Given the description of an element on the screen output the (x, y) to click on. 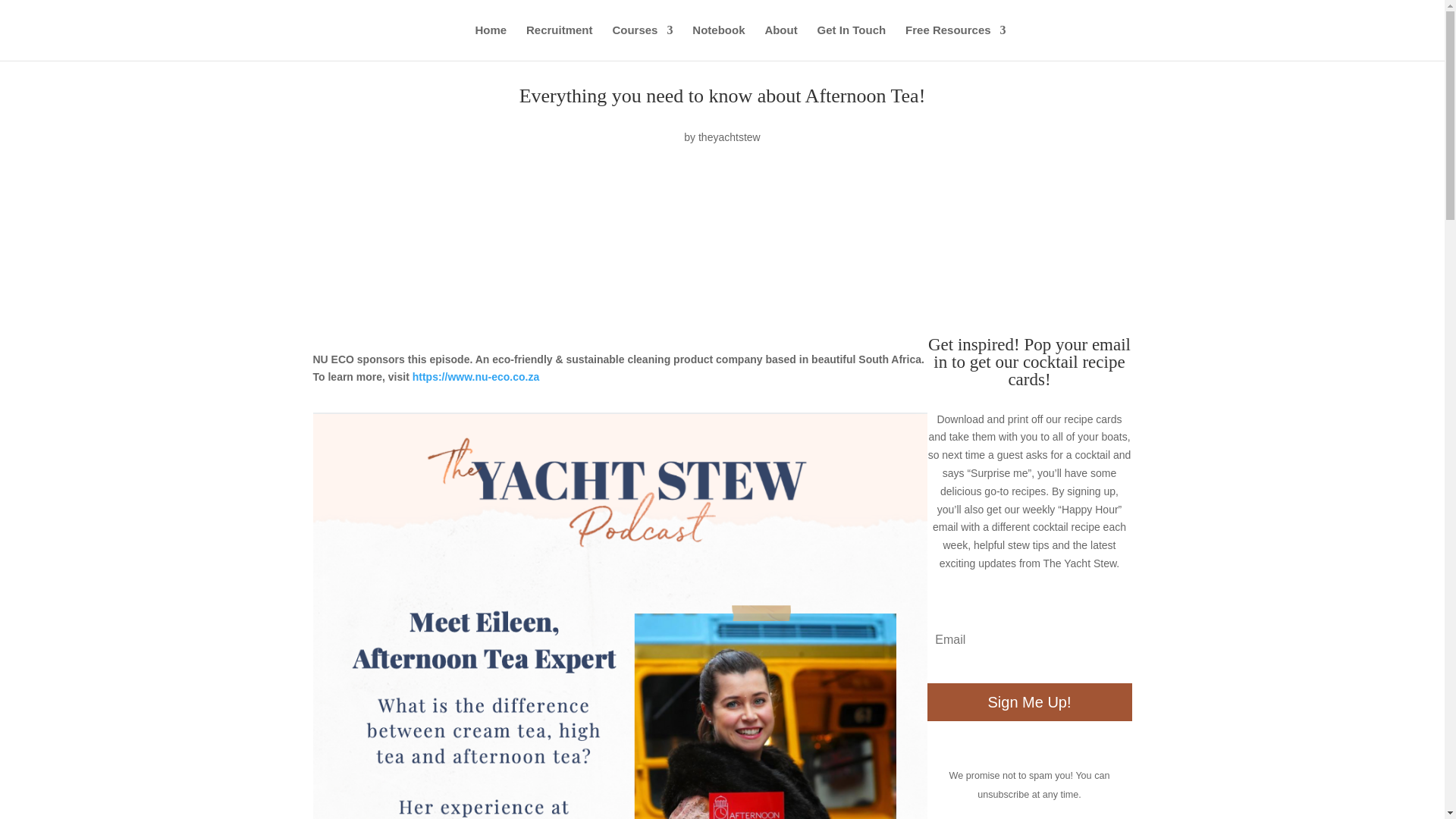
Sign Me Up! (1028, 702)
Posts by theyachtstew (729, 137)
Free Resources (955, 42)
Notebook (718, 42)
theyachtstew (729, 137)
About (780, 42)
Home (490, 42)
Get In Touch (851, 42)
Courses (641, 42)
Recruitment (558, 42)
